Given the description of an element on the screen output the (x, y) to click on. 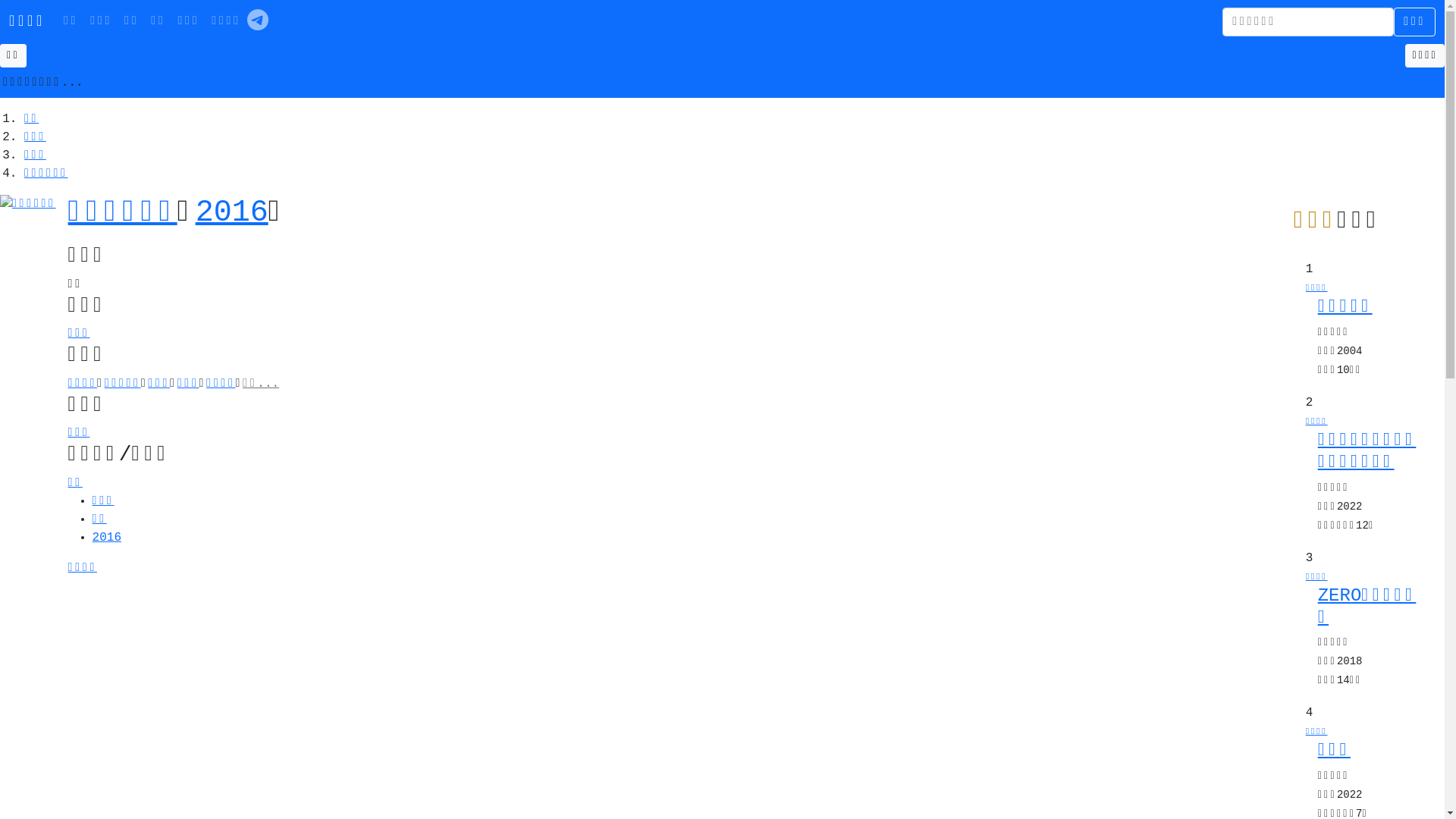
2016 Element type: text (106, 537)
2016 Element type: text (231, 212)
